Given the description of an element on the screen output the (x, y) to click on. 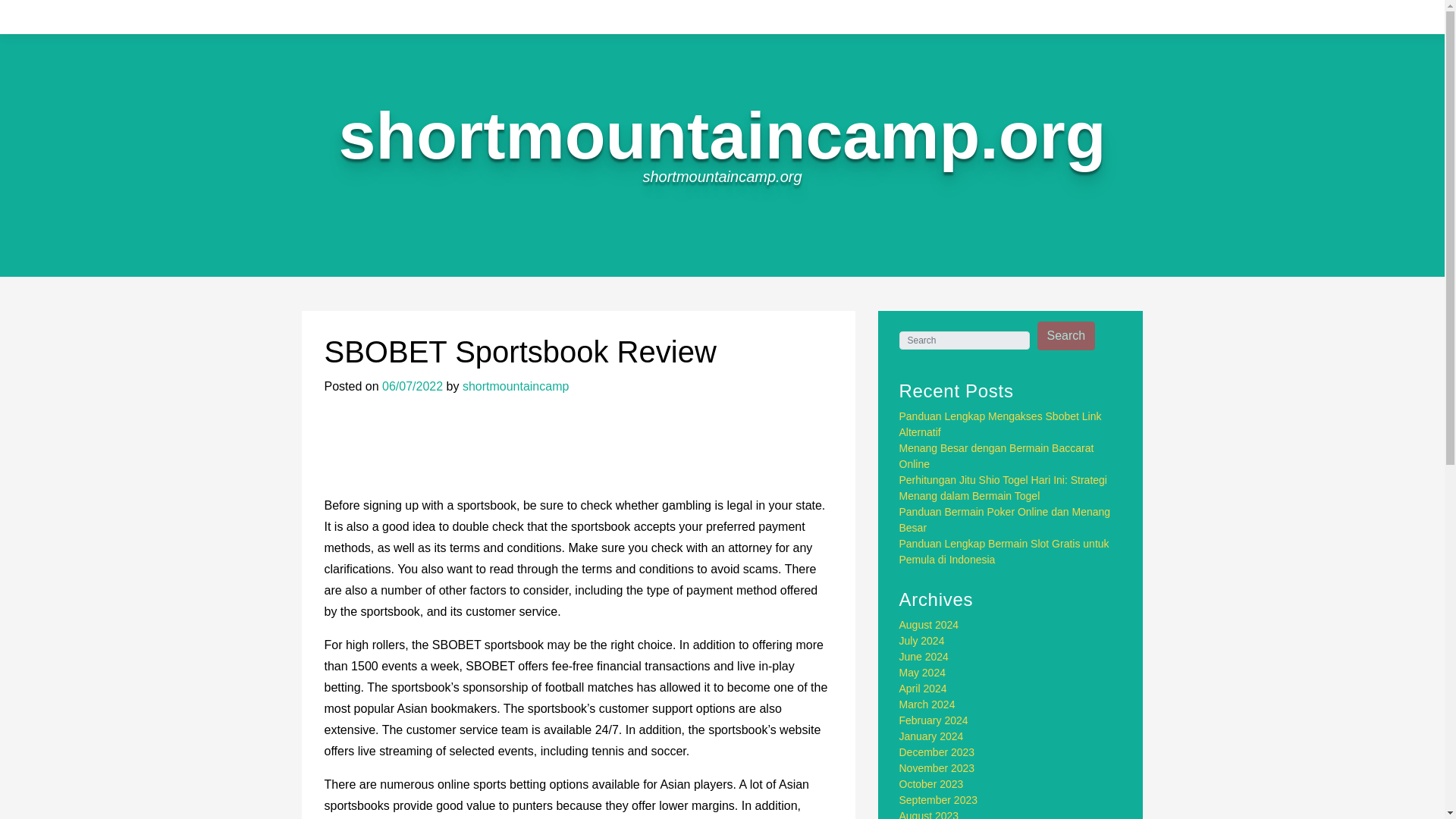
Panduan Lengkap Mengakses Sbobet Link Alternatif (1000, 424)
June 2024 (924, 656)
shortmountaincamp (516, 386)
August 2023 (929, 814)
Menang Besar dengan Bermain Baccarat Online (996, 456)
Panduan Bermain Poker Online dan Menang Besar (1004, 519)
September 2023 (938, 799)
December 2023 (937, 752)
Search (1066, 335)
November 2023 (937, 767)
April 2024 (923, 688)
July 2024 (921, 640)
January 2024 (931, 736)
